Given the description of an element on the screen output the (x, y) to click on. 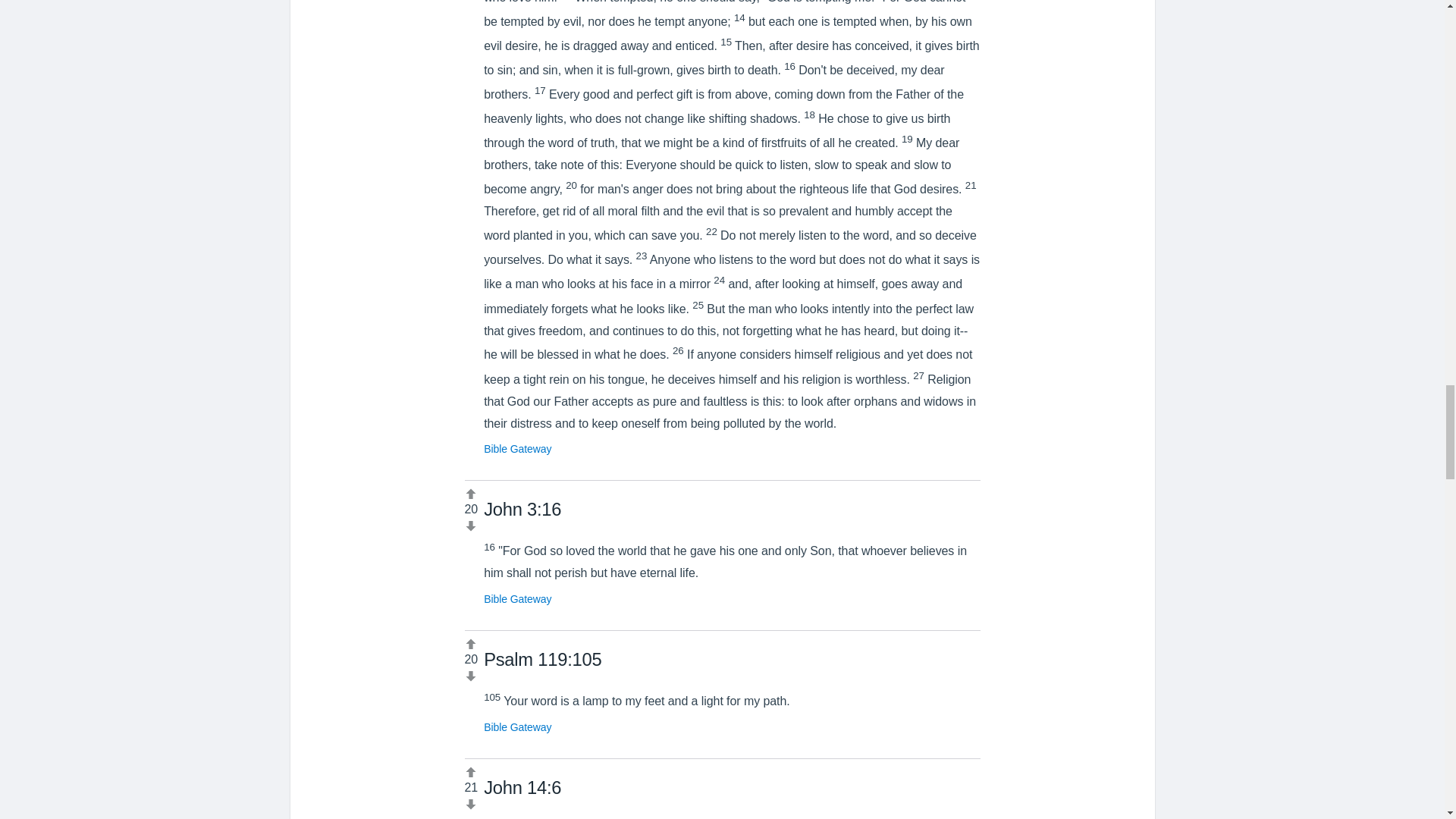
Bible Gateway (517, 598)
Bible Gateway (517, 727)
Bible Gateway (517, 449)
